Given the description of an element on the screen output the (x, y) to click on. 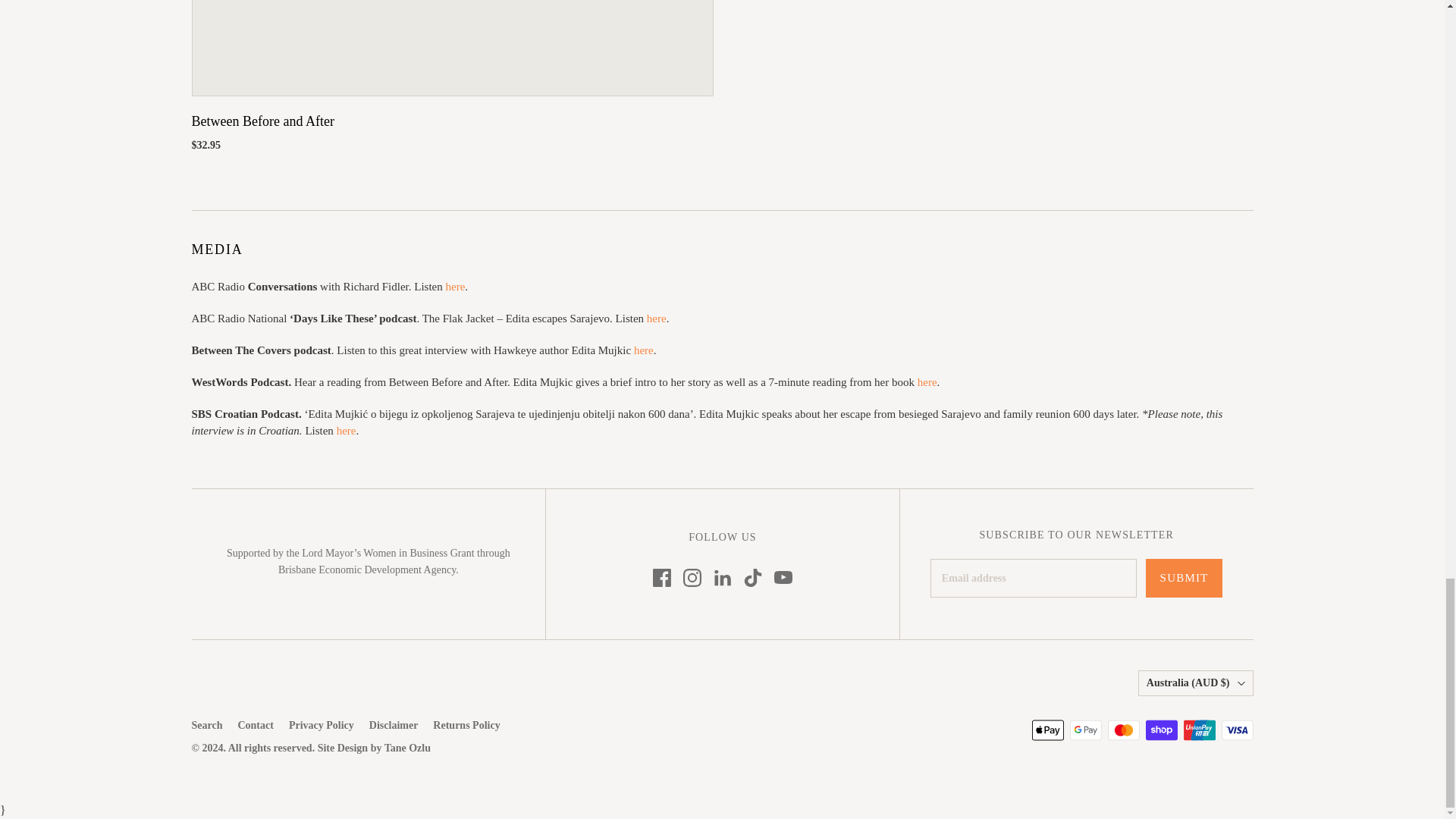
Union Pay (1198, 729)
Shop Pay (1160, 729)
Apple Pay (1046, 729)
Mastercard (1122, 729)
Tane (407, 747)
Google Pay (1084, 729)
